Given the description of an element on the screen output the (x, y) to click on. 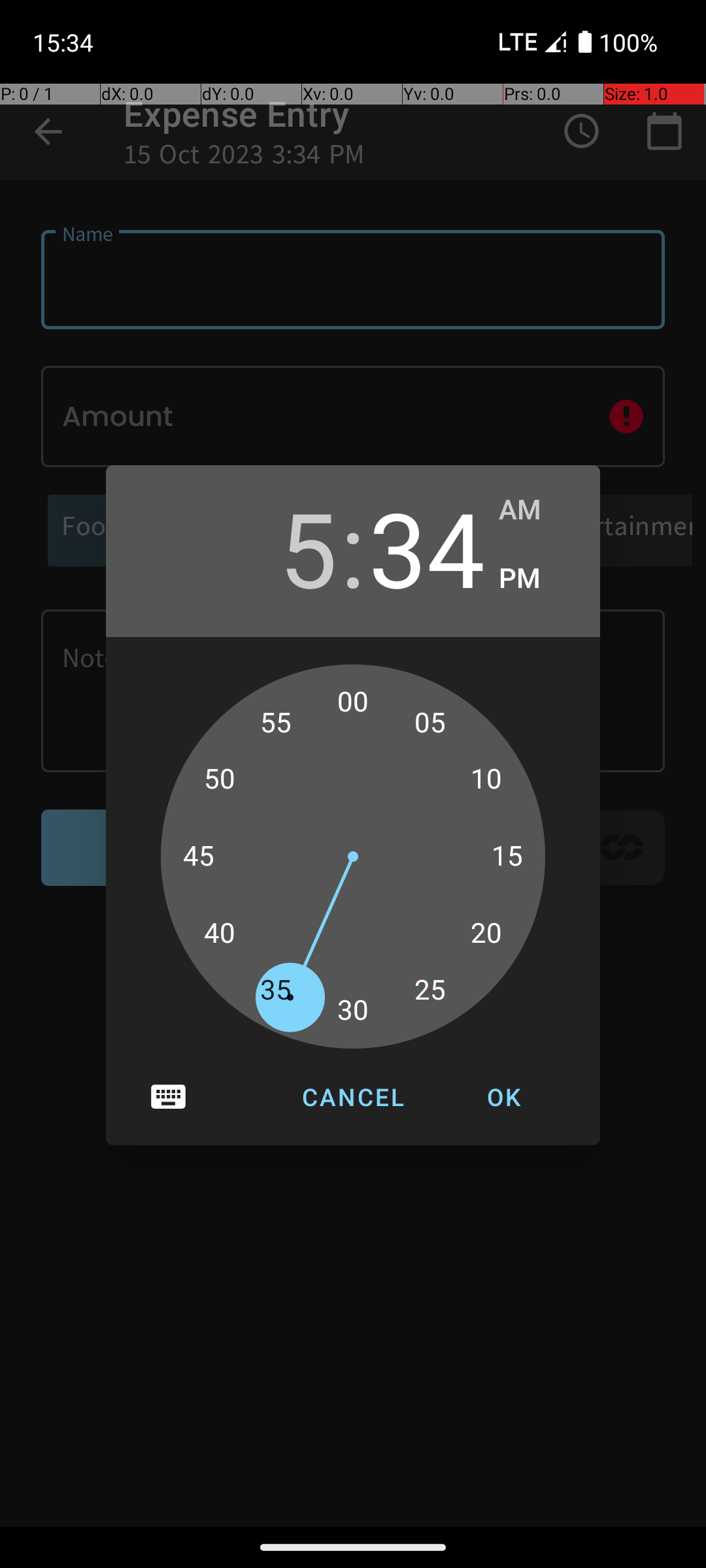
34 Element type: android.widget.TextView (426, 547)
